Given the description of an element on the screen output the (x, y) to click on. 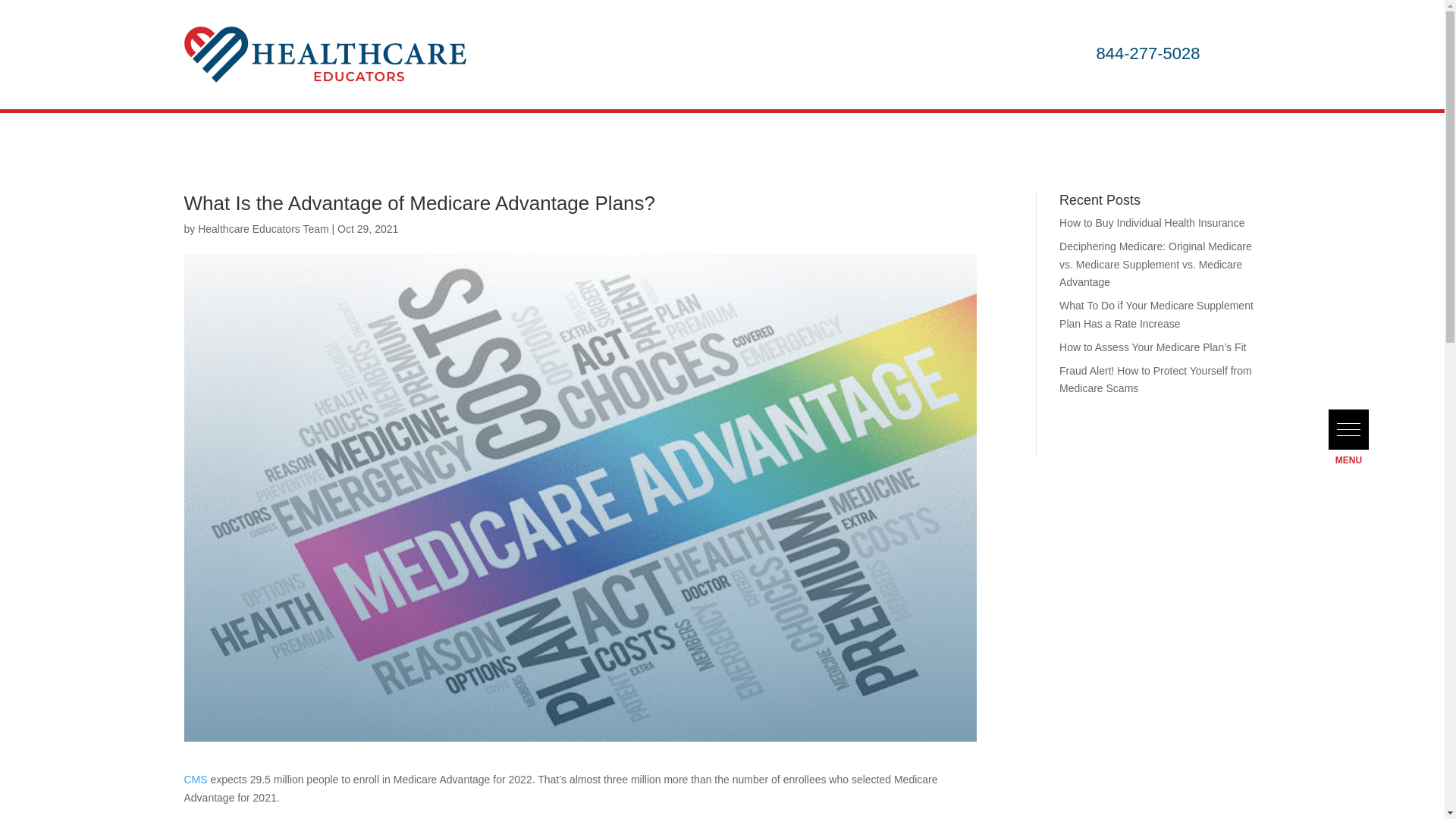
Fraud Alert! How to Protect Yourself from Medicare Scams (1155, 379)
Posts by Healthcare Educators Team (263, 228)
CMS (194, 779)
Healthcare Educators Logo (324, 54)
How to Buy Individual Health Insurance (1151, 223)
Healthcare Educators Team (263, 228)
